Given the description of an element on the screen output the (x, y) to click on. 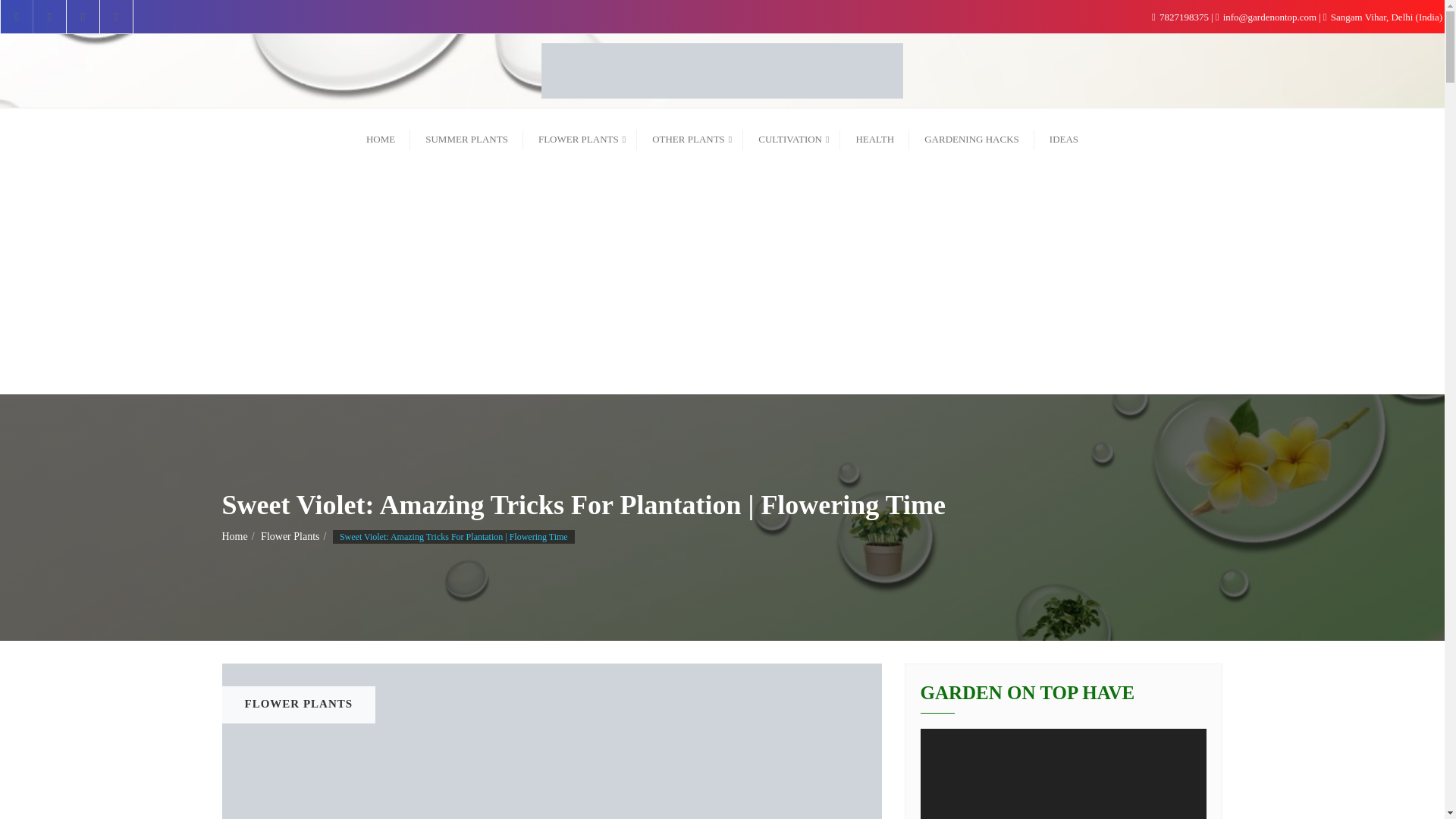
GARDENING HACKS (970, 137)
OTHER PLANTS (689, 137)
HEALTH (874, 137)
SUMMER PLANTS (466, 137)
CULTIVATION (791, 137)
HOME (380, 137)
FLOWER PLANTS (579, 137)
IDEAS (1063, 137)
